Given the description of an element on the screen output the (x, y) to click on. 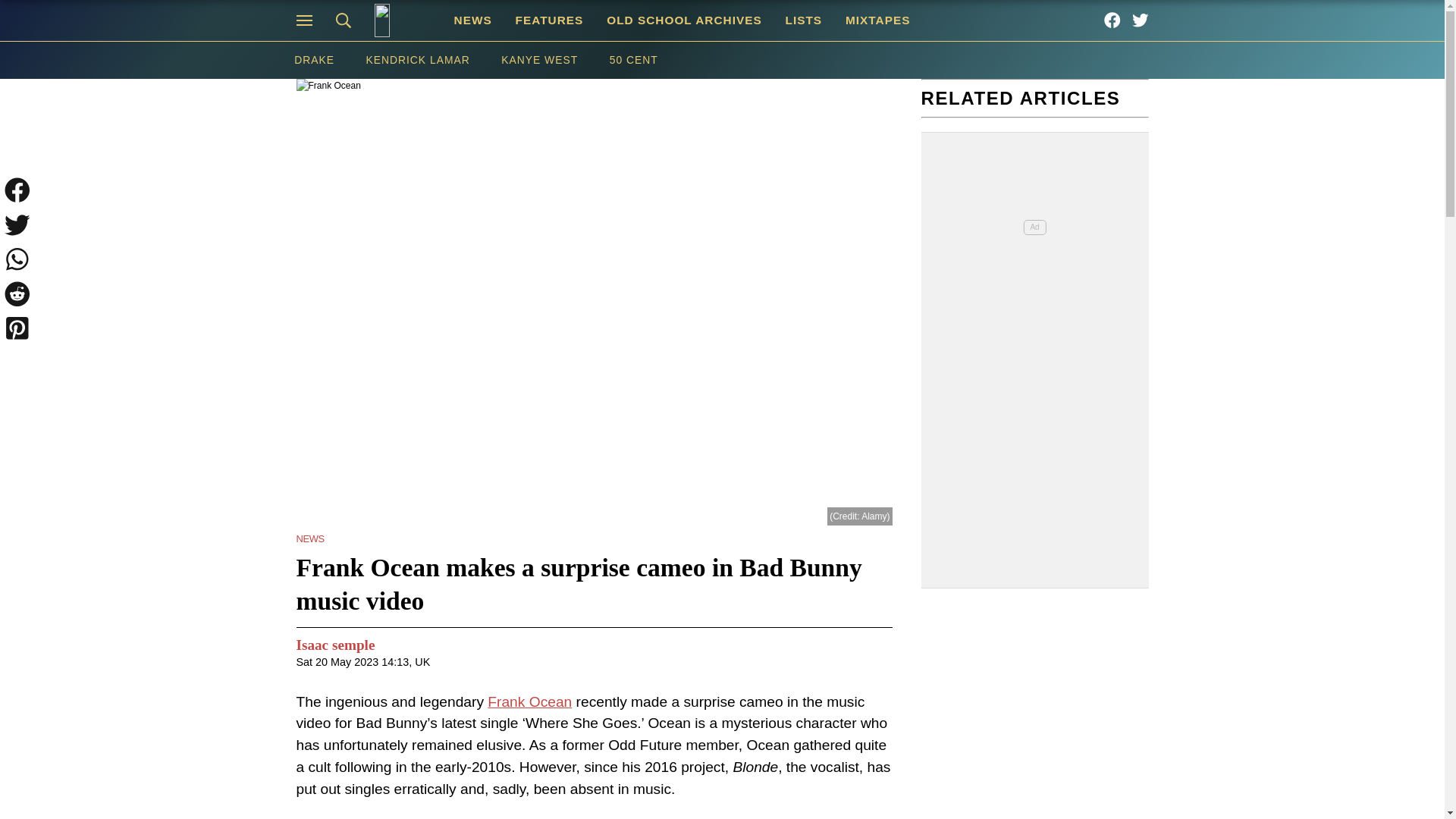
Hip Hop Hero on Facebook (1112, 20)
KENDRICK LAMAR (418, 59)
Hip Hop Hero on Twitter (1140, 20)
NEWS (309, 538)
KANYE WEST (538, 59)
Frank Ocean (529, 701)
LISTS (802, 20)
MIXTAPES (877, 20)
Isaac semple (334, 645)
OLD SCHOOL ARCHIVES (684, 20)
Posts by Isaac semple (334, 645)
Hip Hop Hero (402, 20)
FEATURES (549, 20)
DRAKE (313, 59)
NEWS (472, 20)
